Given the description of an element on the screen output the (x, y) to click on. 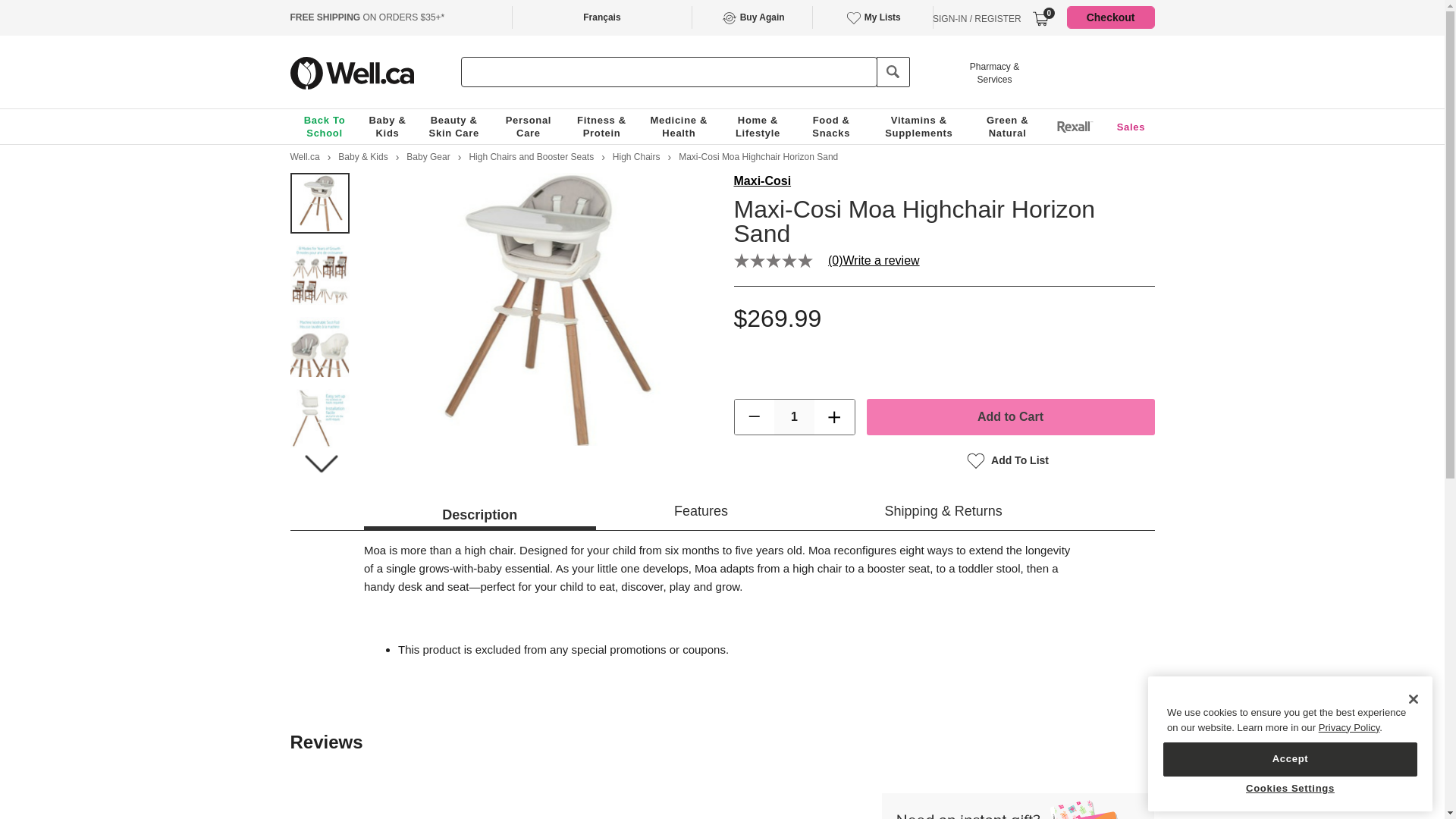
Back To School (324, 126)
Checkout (1110, 16)
Add to Cart (1010, 416)
1 (793, 416)
My Lists (872, 16)
0 (1040, 17)
Buy Again (752, 16)
